Given the description of an element on the screen output the (x, y) to click on. 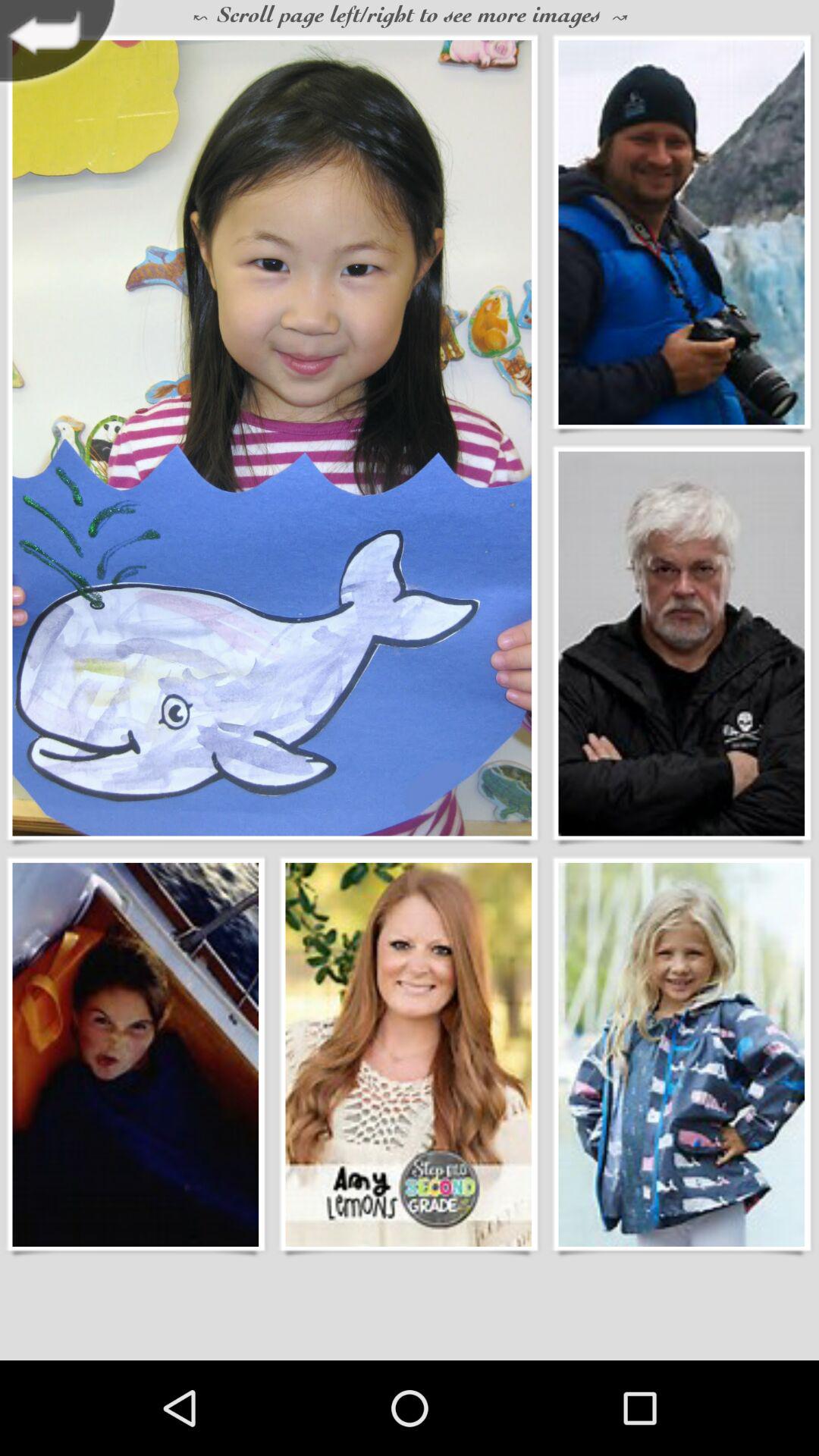
go back (62, 45)
